Given the description of an element on the screen output the (x, y) to click on. 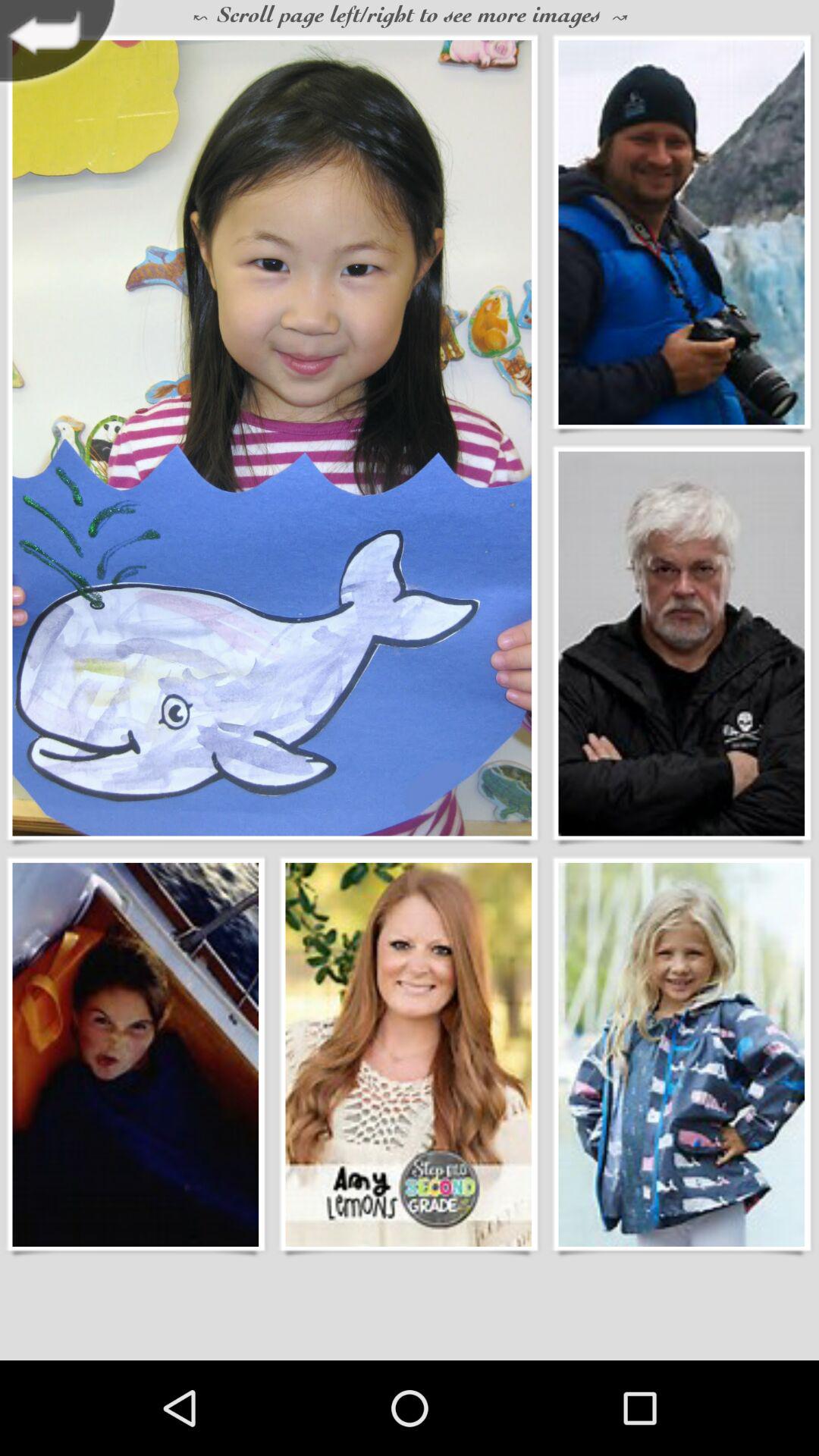
go back (62, 45)
